Given the description of an element on the screen output the (x, y) to click on. 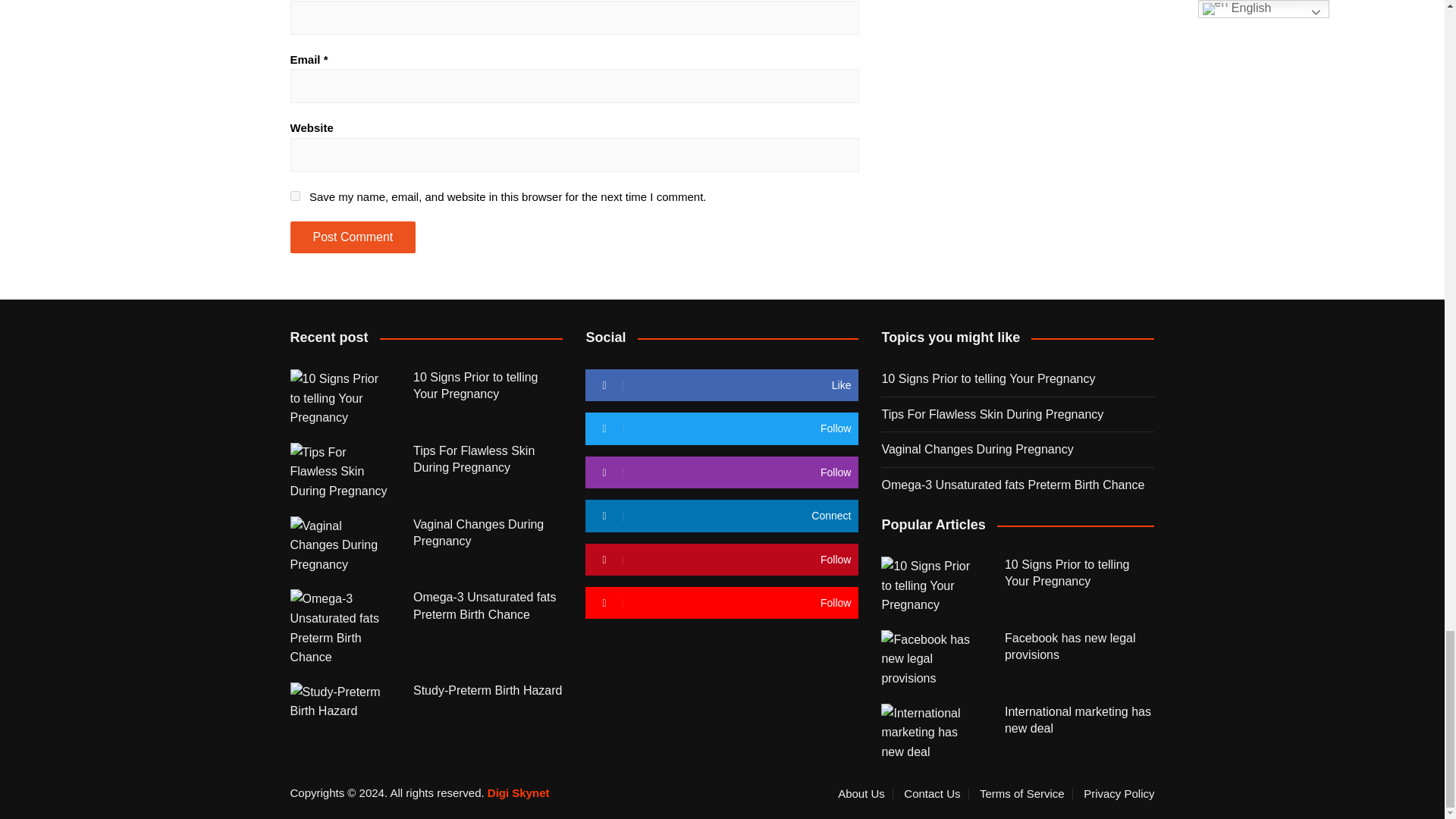
10 Signs Prior to telling Your Pregnancy (339, 398)
Study-Preterm Birth Hazard (339, 701)
yes (294, 195)
Tips For Flawless Skin During Pregnancy (339, 472)
Post Comment (351, 237)
Omega-3 Unsaturated fats Preterm Birth Chance (339, 627)
10 Signs Prior to telling Your Pregnancy (930, 585)
Vaginal Changes During Pregnancy (339, 545)
